Given the description of an element on the screen output the (x, y) to click on. 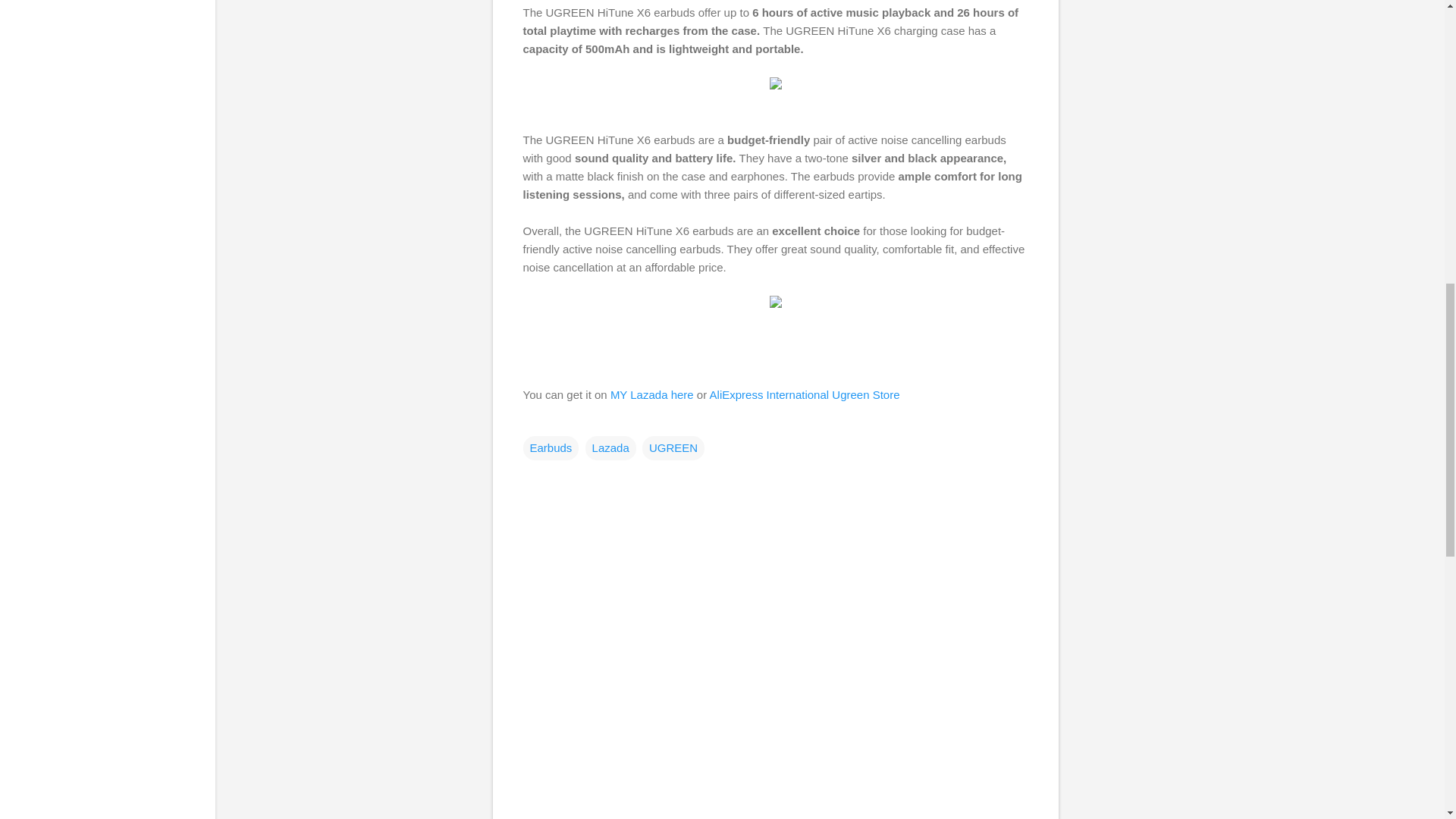
MY Lazada here (652, 394)
AliExpress International Ugreen Store  (806, 394)
Lazada (610, 446)
Earbuds (550, 446)
UGREEN (673, 446)
